Given the description of an element on the screen output the (x, y) to click on. 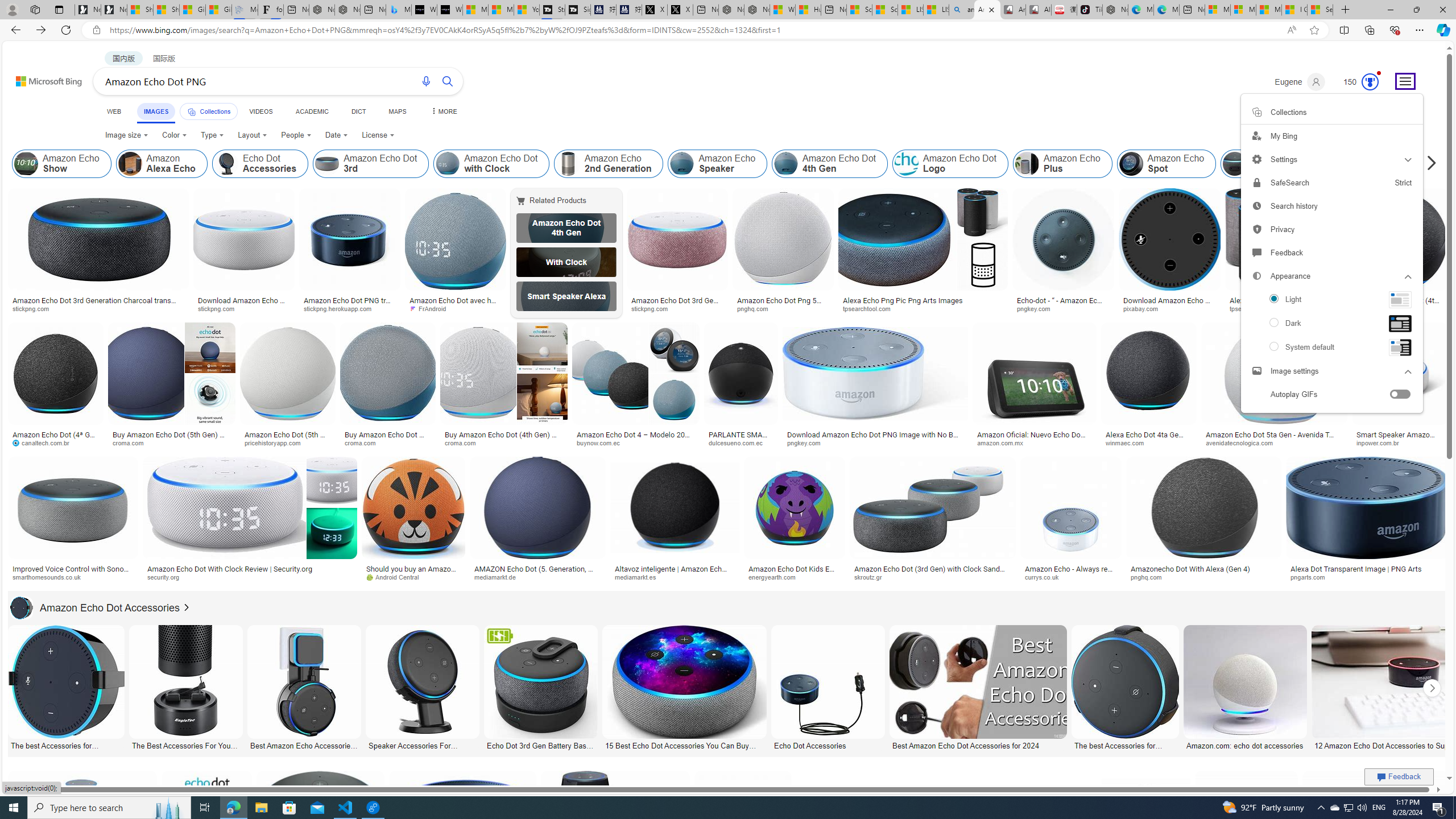
Image settings (1256, 370)
Settings and quick links (1404, 80)
Amazon Echo Dot with Clock (490, 163)
dulcesueno.com.ec (739, 442)
Echo Dot Generations (1388, 163)
TikTok (1089, 9)
Android Central (396, 576)
DICT (357, 111)
People (295, 135)
Amazon Echo Show (25, 163)
MORE (443, 111)
